Given the description of an element on the screen output the (x, y) to click on. 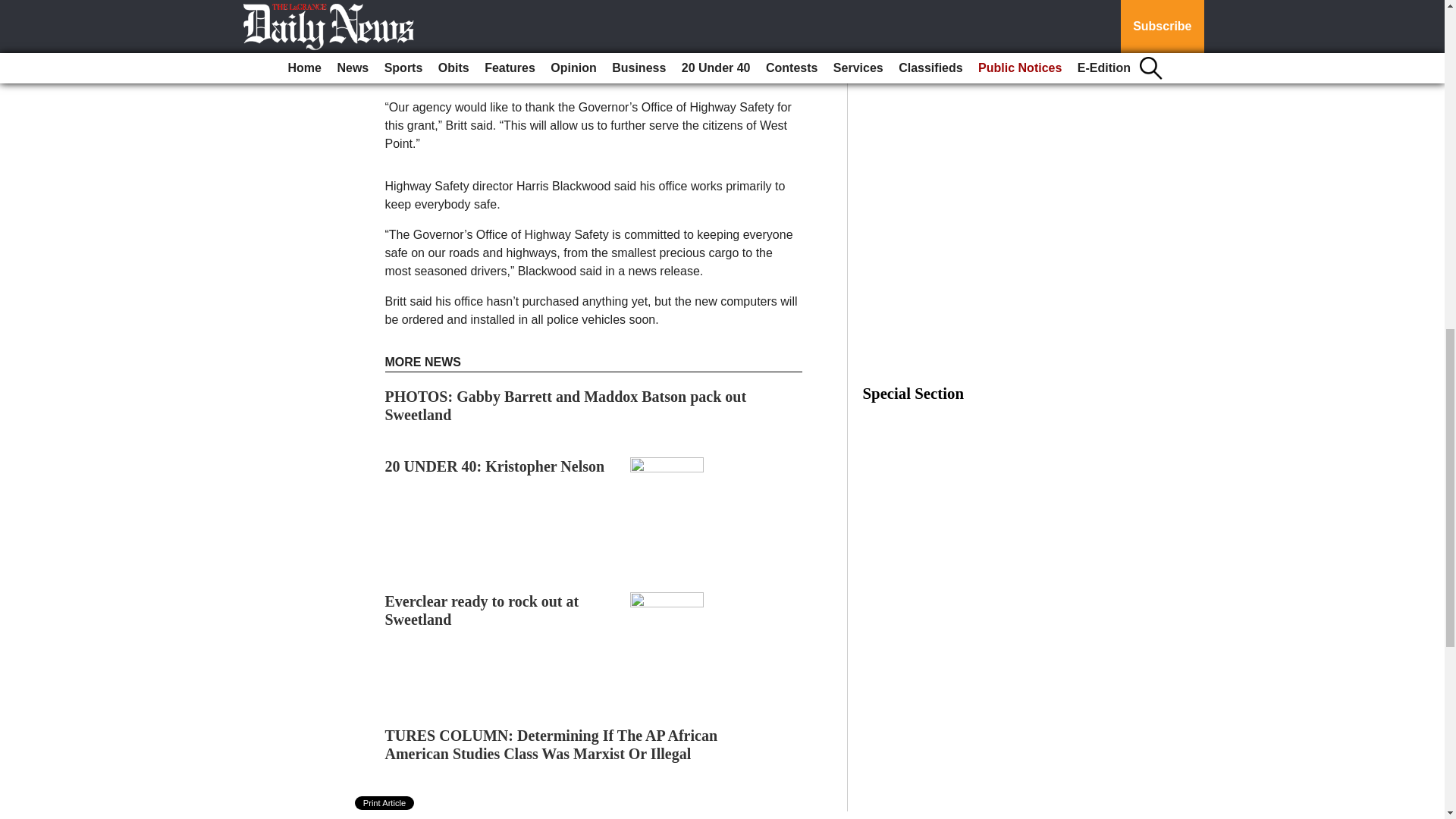
PHOTOS: Gabby Barrett and Maddox Batson pack out Sweetland (565, 405)
20 UNDER 40: Kristopher Nelson (495, 466)
Everclear ready to rock out at Sweetland (482, 610)
PHOTOS: Gabby Barrett and Maddox Batson pack out Sweetland (565, 405)
20 UNDER 40: Kristopher Nelson (495, 466)
Everclear ready to rock out at Sweetland (482, 610)
Print Article (384, 802)
